Given the description of an element on the screen output the (x, y) to click on. 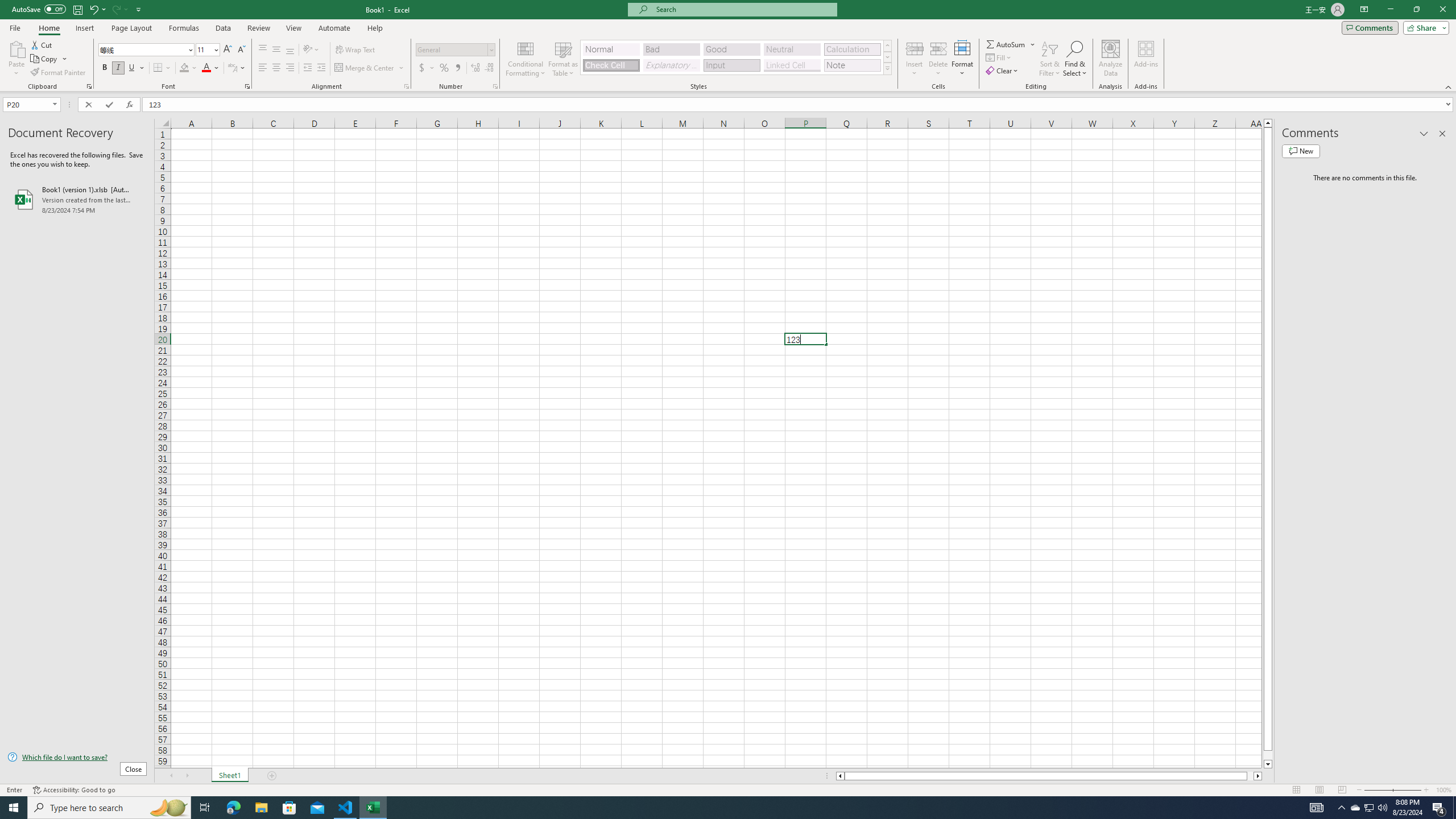
Zoom (1392, 790)
Copy (49, 58)
Column right (1258, 775)
Show Phonetic Field (231, 67)
